Given the description of an element on the screen output the (x, y) to click on. 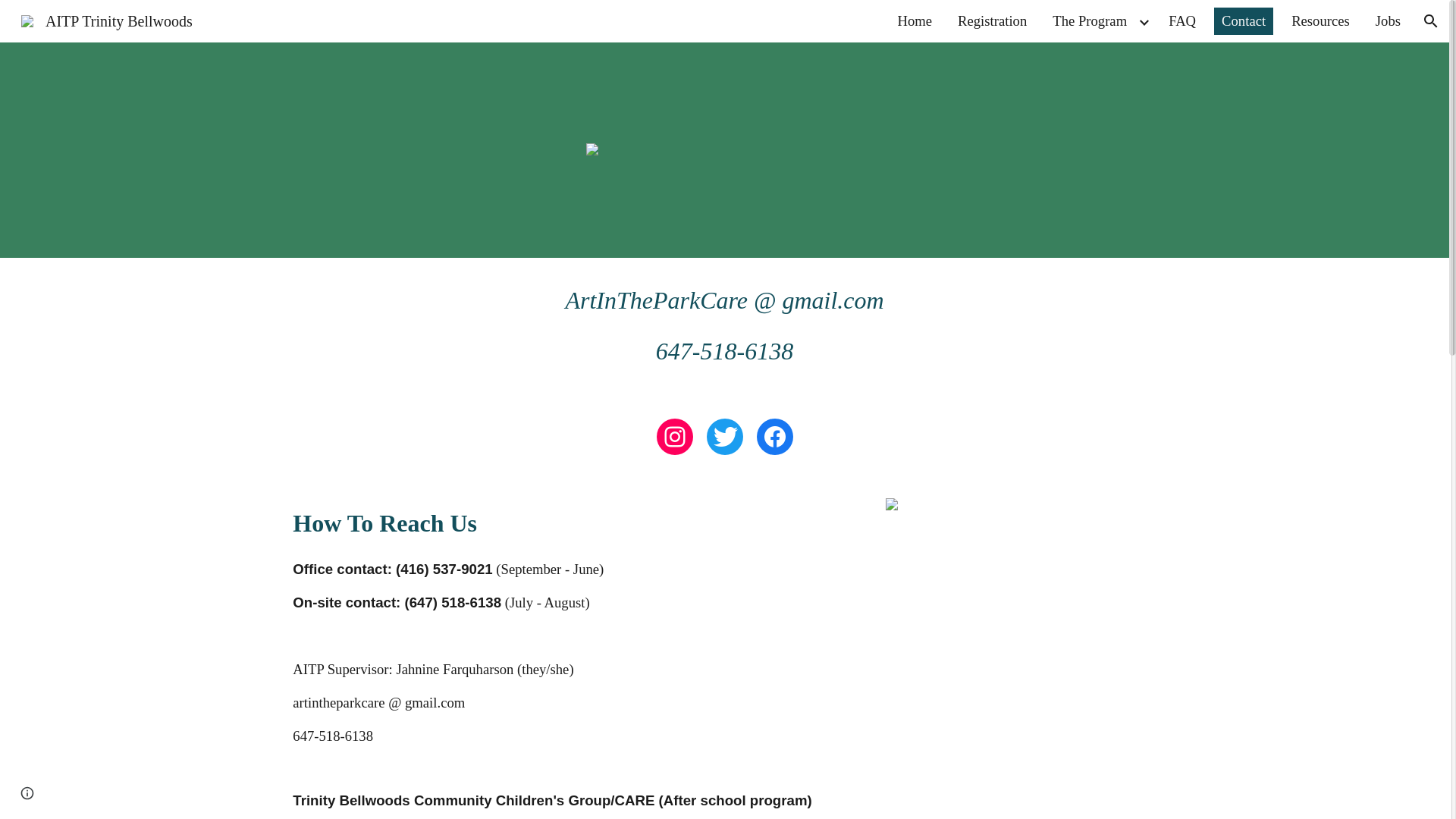
The Program Element type: text (1089, 20)
Jobs Element type: text (1388, 20)
FAQ Element type: text (1182, 20)
Home Element type: text (914, 20)
Expand/Collapse Element type: hover (1143, 20)
Resources Element type: text (1320, 20)
AITP Trinity Bellwoods Element type: text (106, 19)
Registration Element type: text (992, 20)
Contact Element type: text (1243, 20)
